Given the description of an element on the screen output the (x, y) to click on. 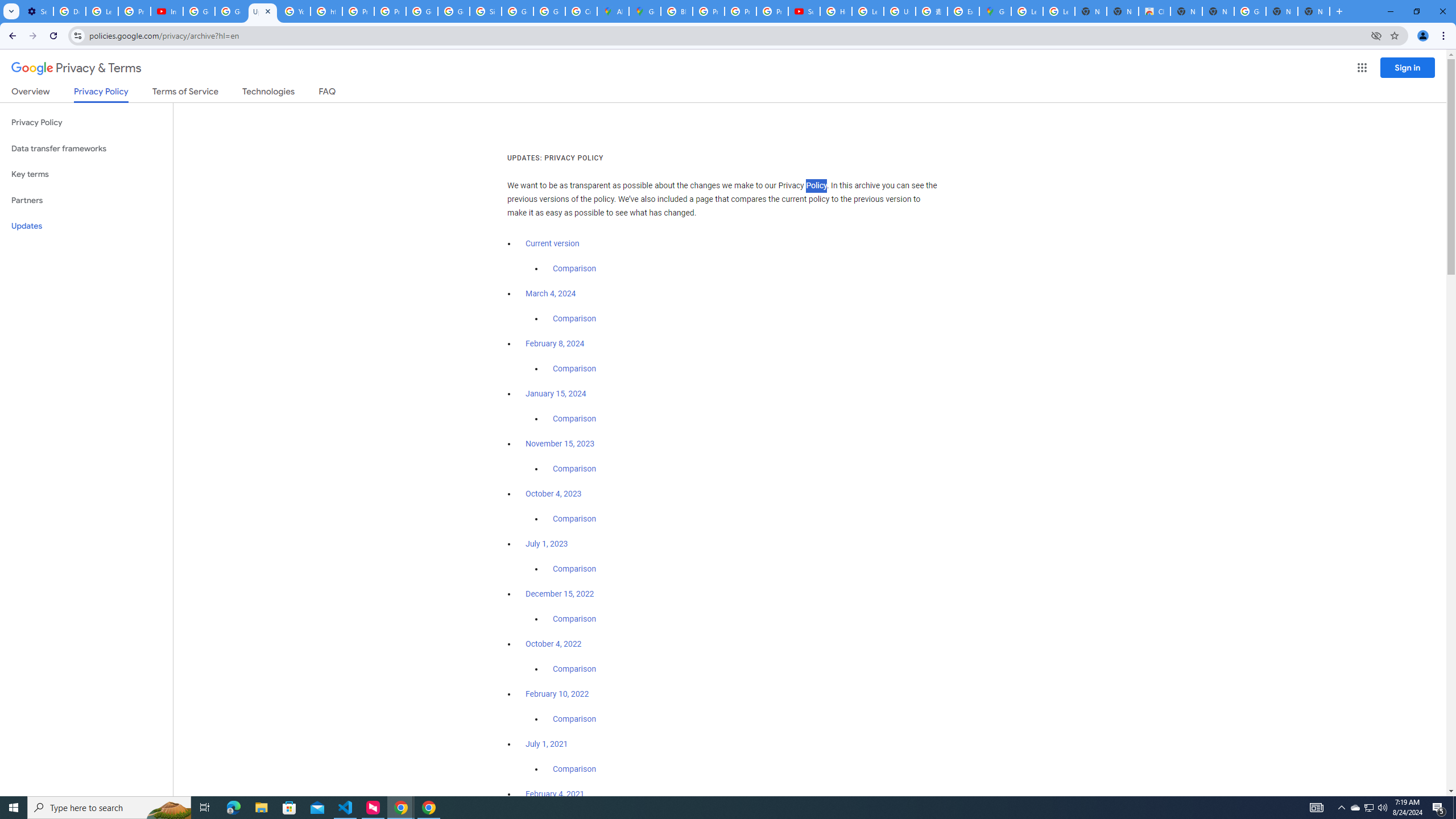
December 15, 2022 (559, 593)
New Tab (1313, 11)
Chrome Web Store (1154, 11)
November 15, 2023 (560, 443)
Learn how to find your photos - Google Photos Help (101, 11)
Privacy Help Center - Policies Help (708, 11)
https://scholar.google.com/ (326, 11)
Privacy Help Center - Policies Help (740, 11)
